Given the description of an element on the screen output the (x, y) to click on. 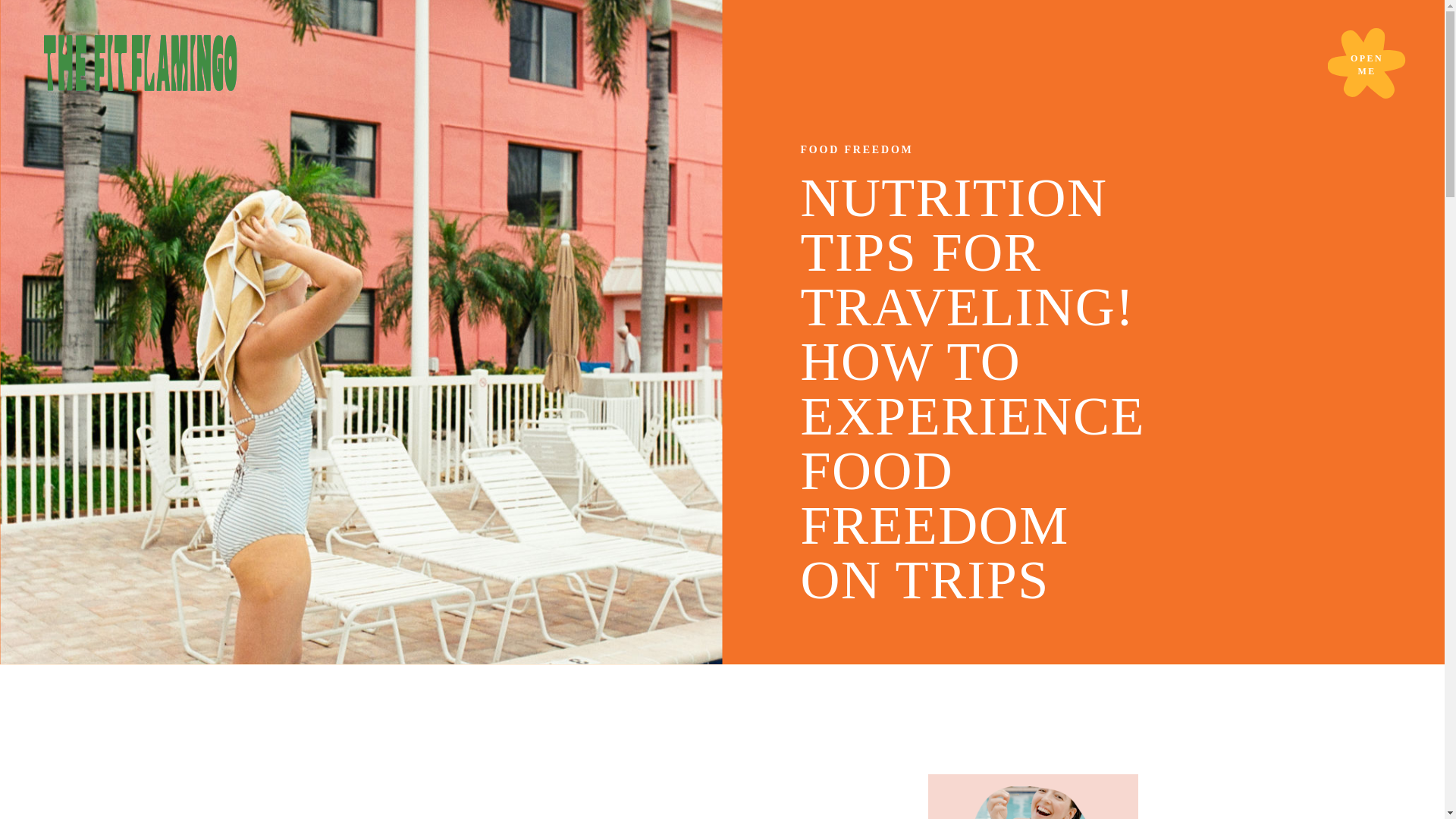
FOOD FREEDOM (857, 149)
How to Experience Food Freedom While Traveling (584, 764)
